Given the description of an element on the screen output the (x, y) to click on. 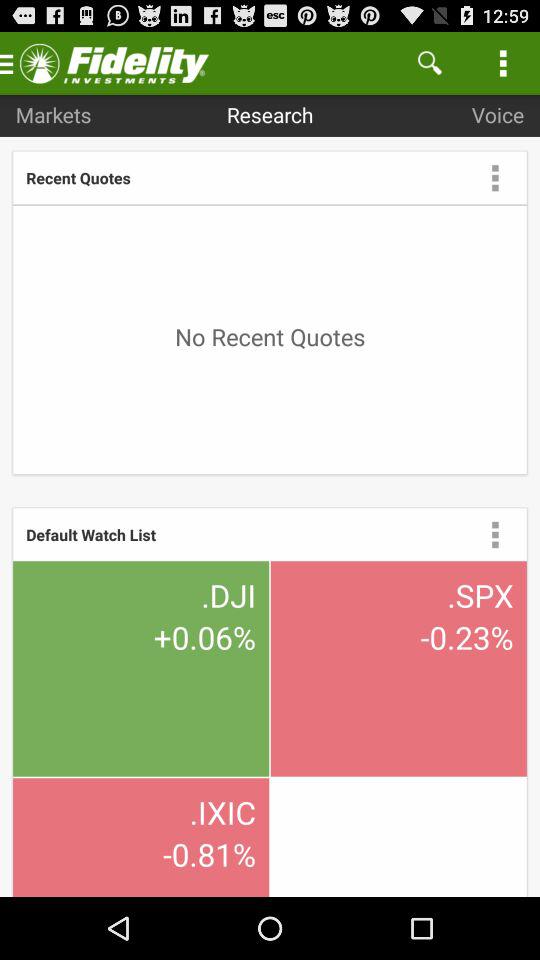
tap icon to the left of the research (53, 114)
